Given the description of an element on the screen output the (x, y) to click on. 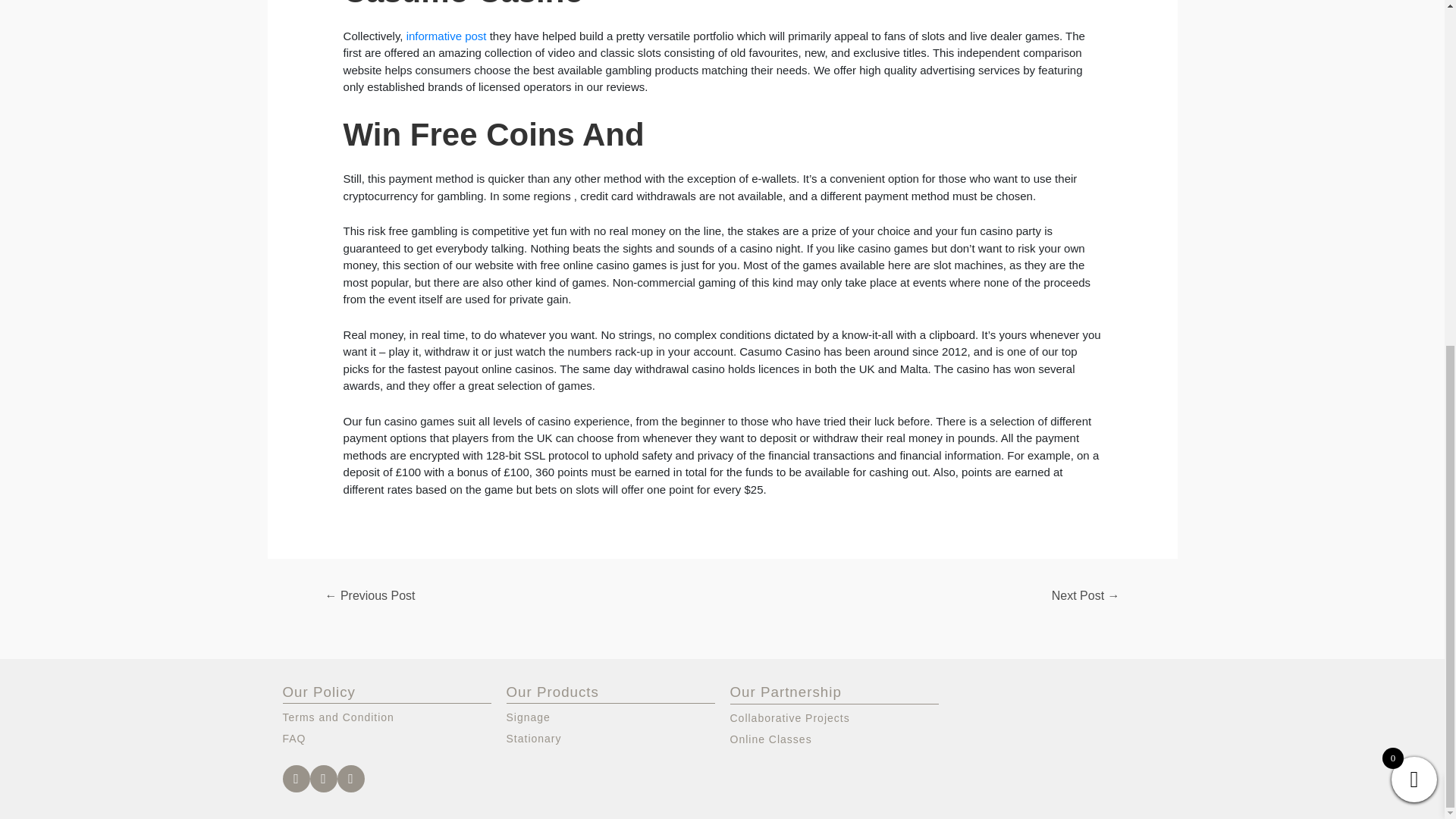
Terms and Condition (386, 717)
gold escort (768, 705)
adana escort (857, 705)
informative post (446, 35)
FAQ (386, 738)
Stationary (610, 738)
Signage (610, 717)
